Given the description of an element on the screen output the (x, y) to click on. 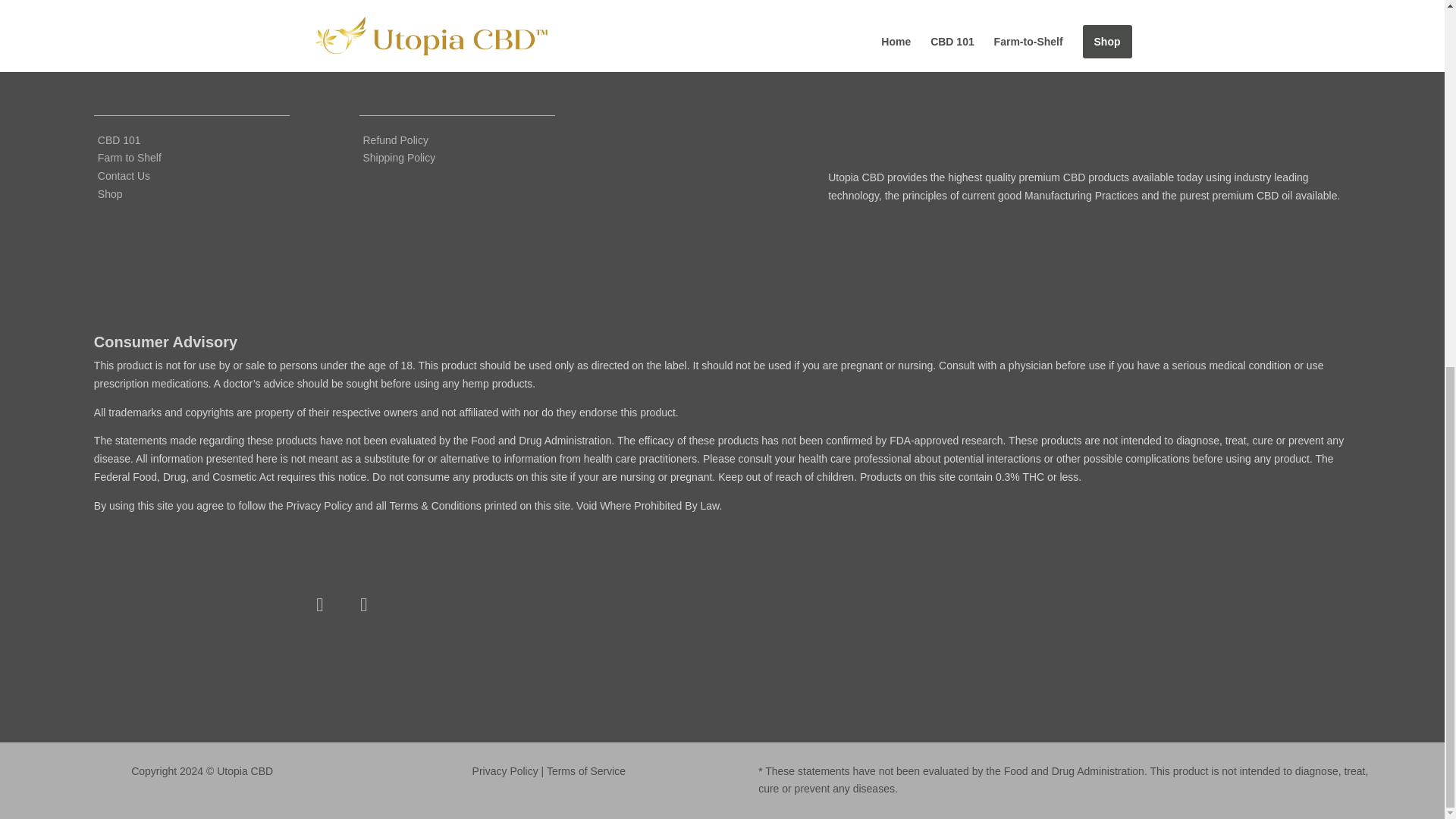
Shop (109, 193)
Contact Us (123, 175)
Terms of Service (586, 770)
Privacy Policy (504, 770)
CBD 101 (119, 140)
Follow on Instagram (363, 605)
Shipping Policy (398, 157)
Farm to Shelf (129, 157)
Follow on Facebook (320, 605)
Refund Policy (395, 140)
